Given the description of an element on the screen output the (x, y) to click on. 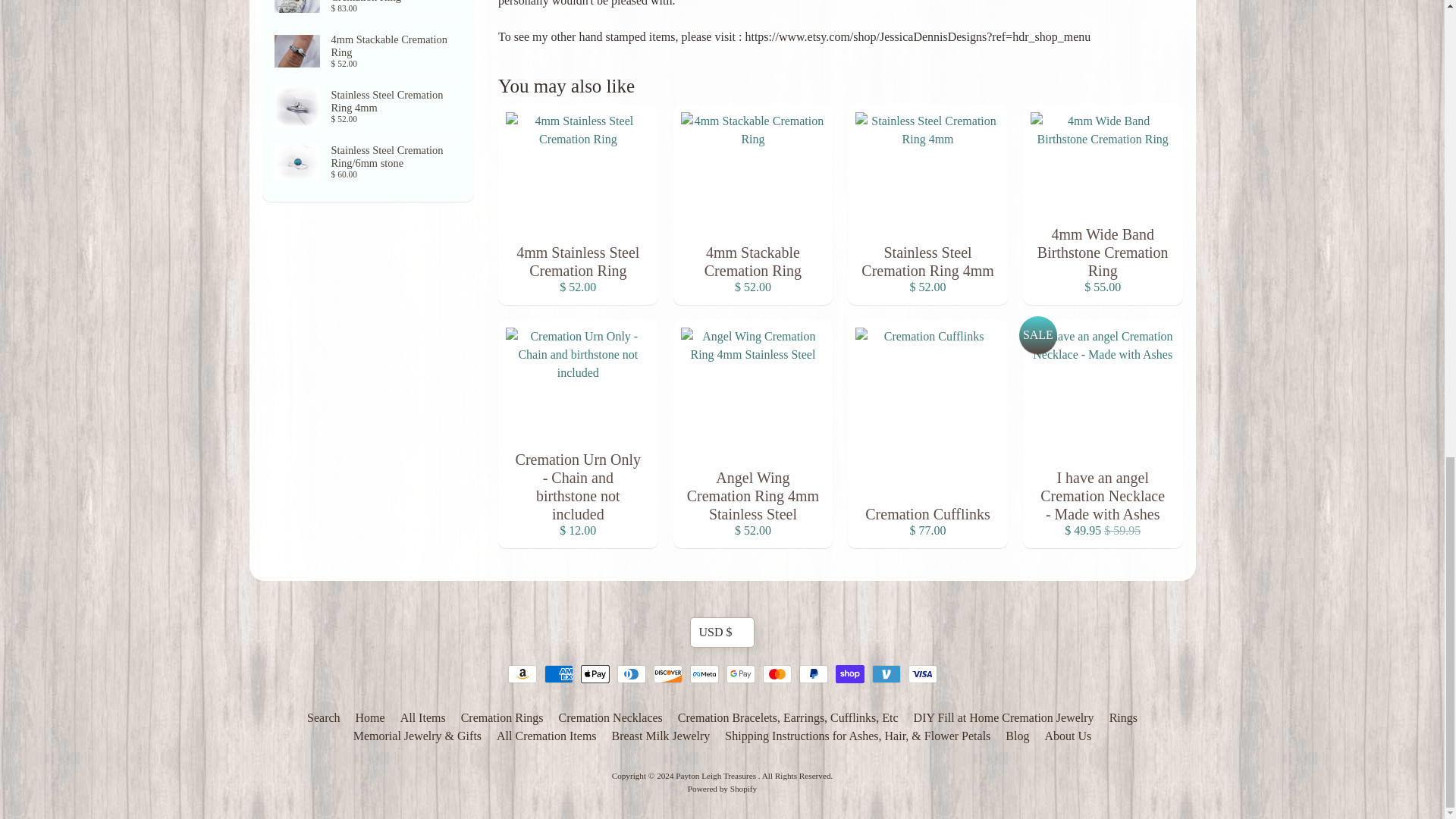
Shop Pay (849, 674)
Mastercard (777, 674)
American Express (558, 674)
Apple Pay (595, 674)
Amazon (522, 674)
4mm Stackable Cremation Ring (369, 11)
Stainless Steel Cremation Ring 4mm (369, 106)
Diners Club (631, 674)
PayPal (813, 674)
Meta Pay (704, 674)
Google Pay (740, 674)
Discover (667, 674)
Sterling Silver 6mm Rope Cremation Ring (369, 51)
